Given the description of an element on the screen output the (x, y) to click on. 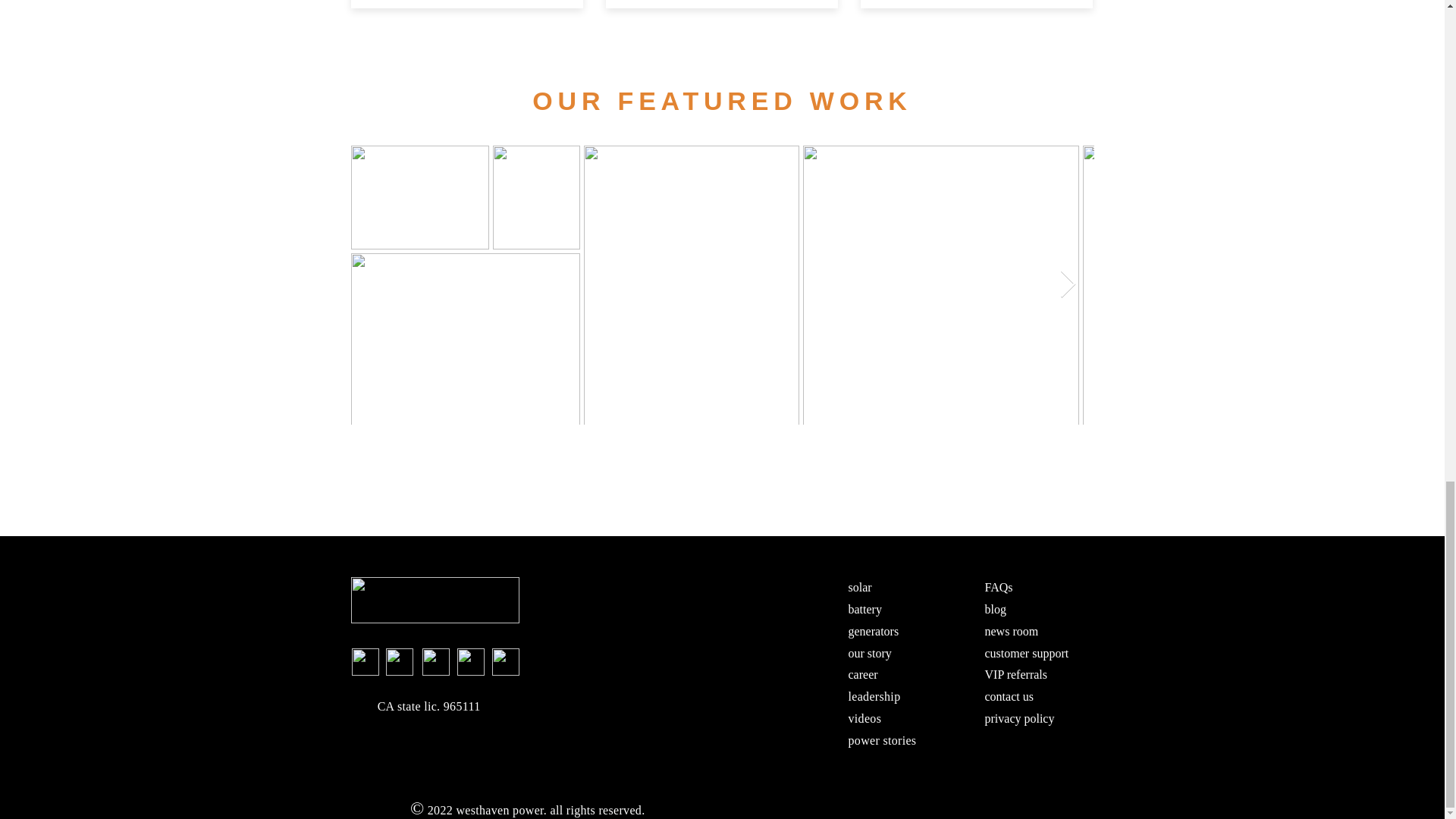
FAQs (997, 586)
our story (869, 653)
youtube-white.png (505, 661)
news room (1011, 631)
fb-white.png (365, 661)
videos (863, 717)
battery (863, 608)
contact us (1008, 696)
solar (858, 586)
twitter-white.png (435, 661)
career (862, 674)
privacy policy (1019, 717)
linkedin-white.png (470, 661)
VIP referrals (1015, 674)
leadership (873, 696)
